Given the description of an element on the screen output the (x, y) to click on. 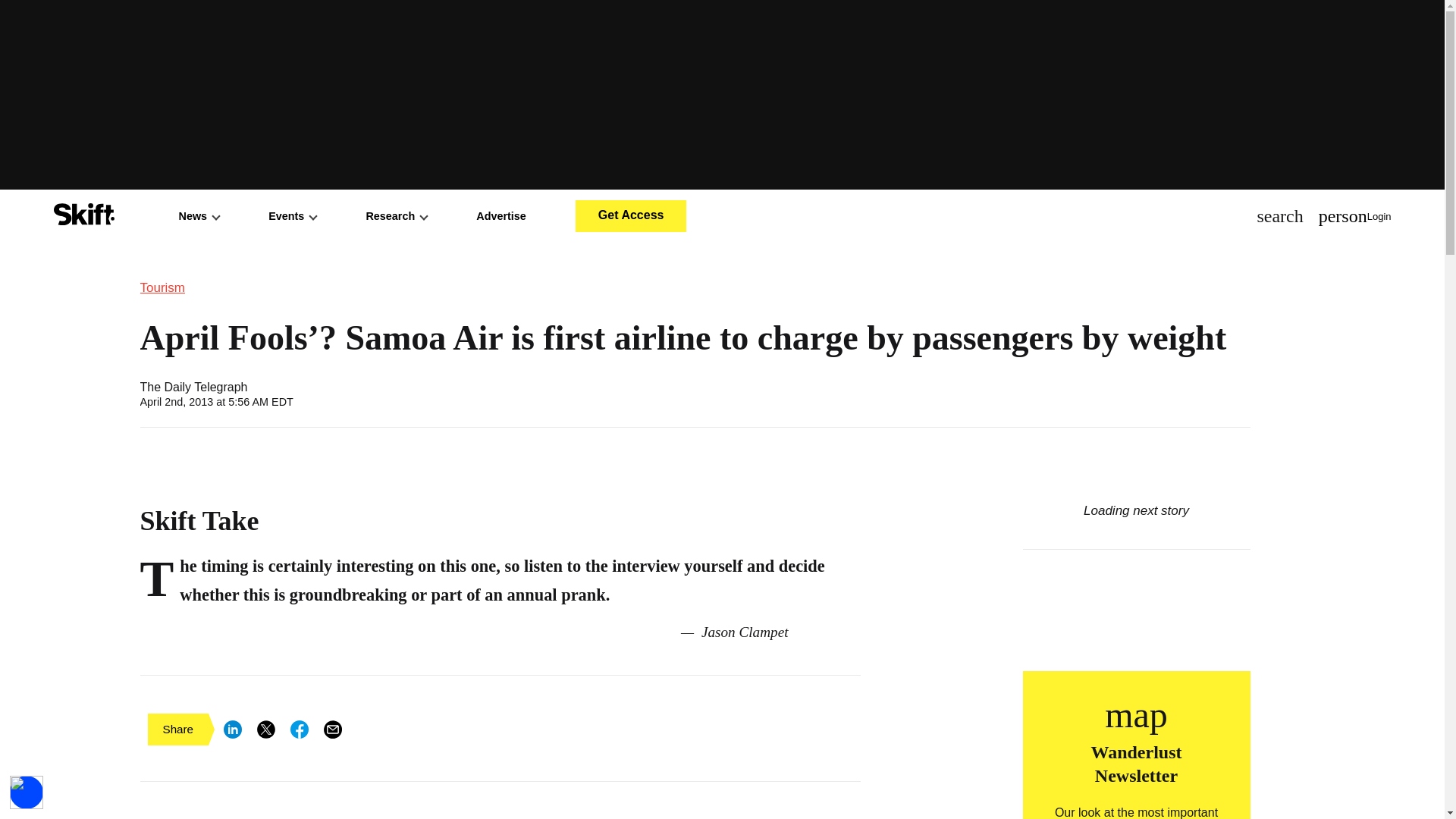
Accessibility Menu (26, 792)
Events (291, 215)
Research (395, 215)
